Given the description of an element on the screen output the (x, y) to click on. 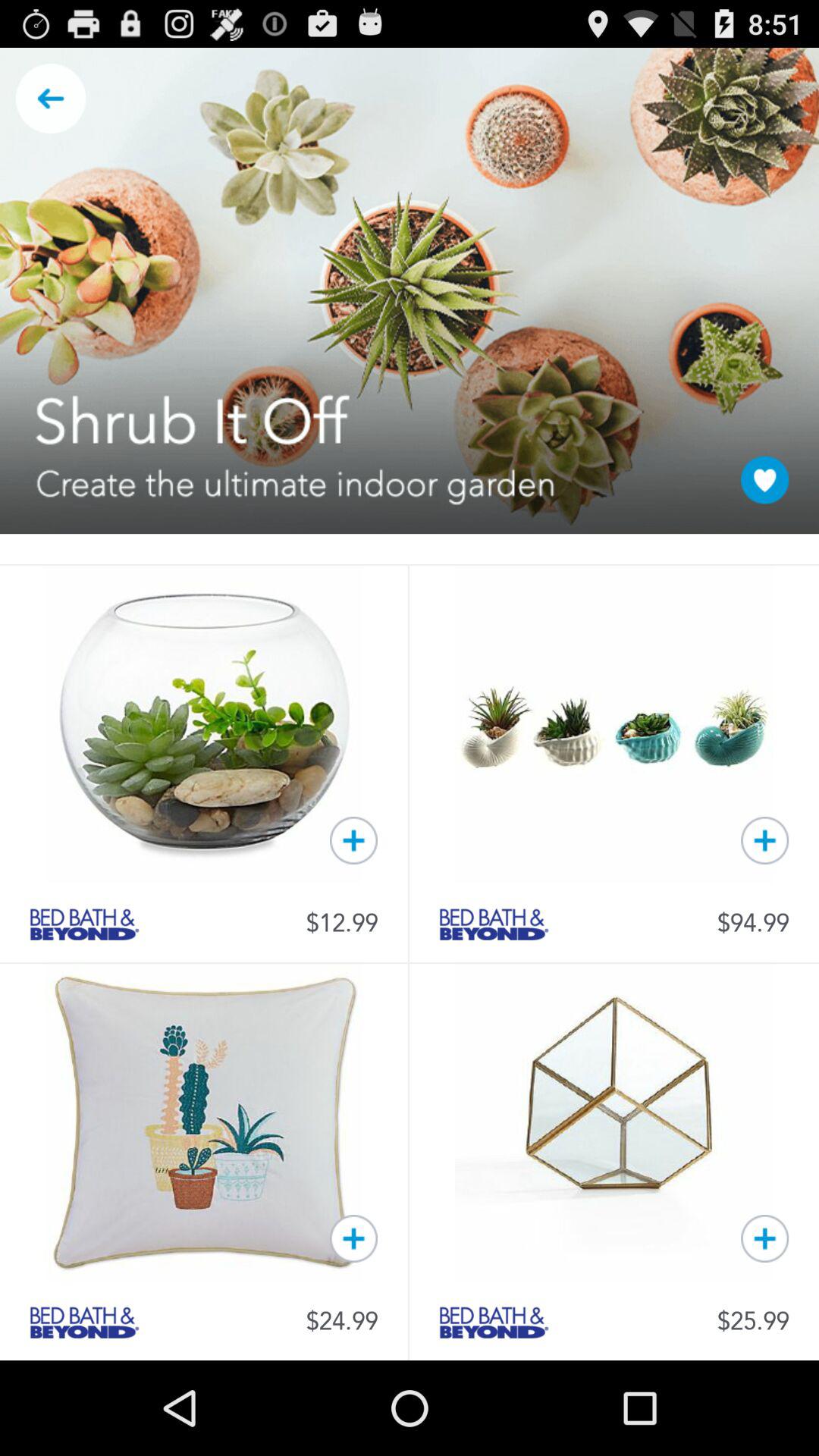
explore bed bath beyond category (493, 924)
